Given the description of an element on the screen output the (x, y) to click on. 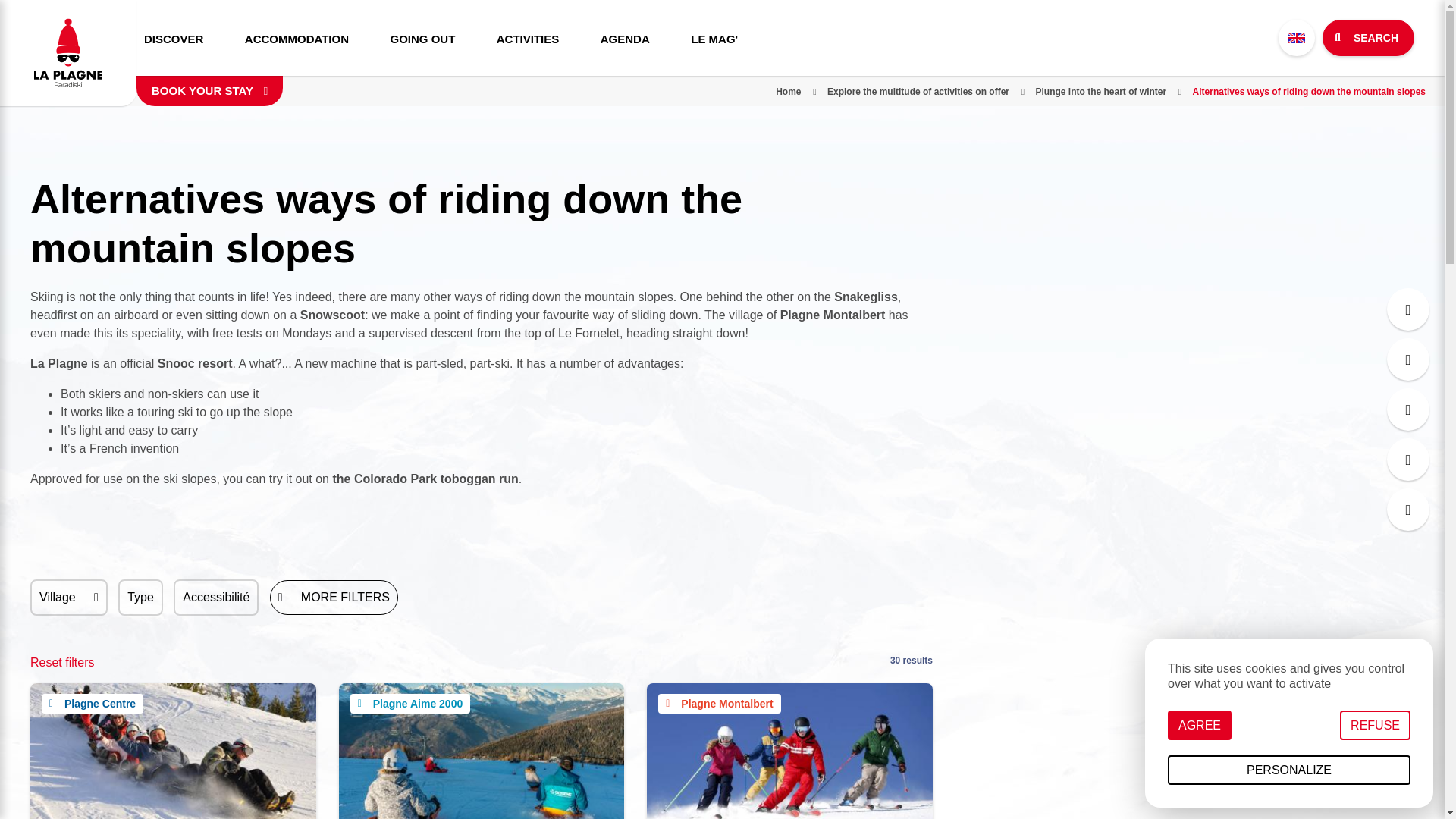
GOING OUT (422, 38)
Webcams (1408, 409)
ACCOMMODATION (296, 38)
DISCOVER (173, 38)
Access (1408, 509)
weather (1408, 459)
